Given the description of an element on the screen output the (x, y) to click on. 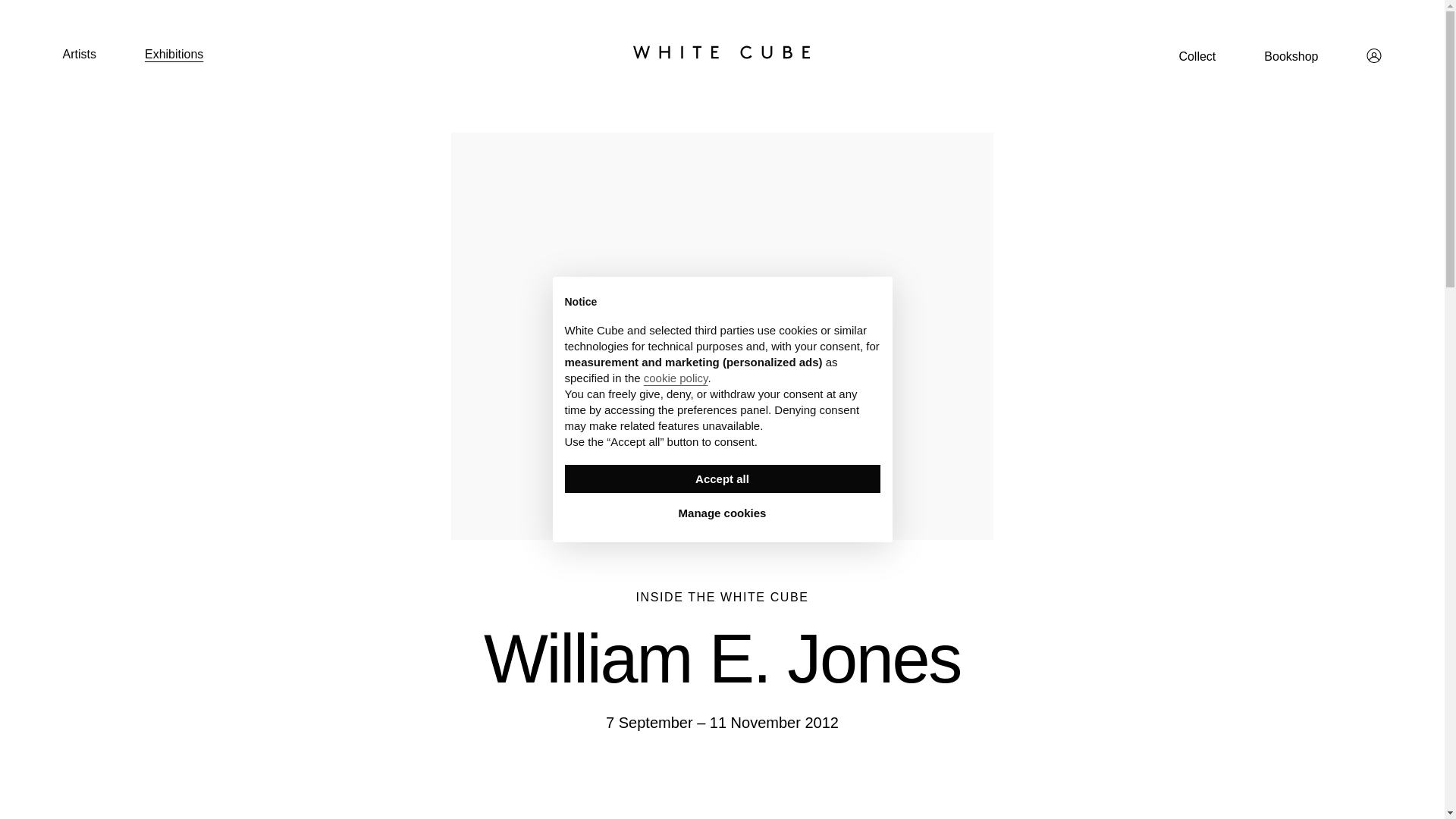
Exhibitions (173, 53)
Collect (1196, 56)
Go to White Cube homepage (721, 51)
Artists (79, 53)
My Account (1374, 55)
Go to Artists page (79, 53)
Bookshop (1290, 56)
